Given the description of an element on the screen output the (x, y) to click on. 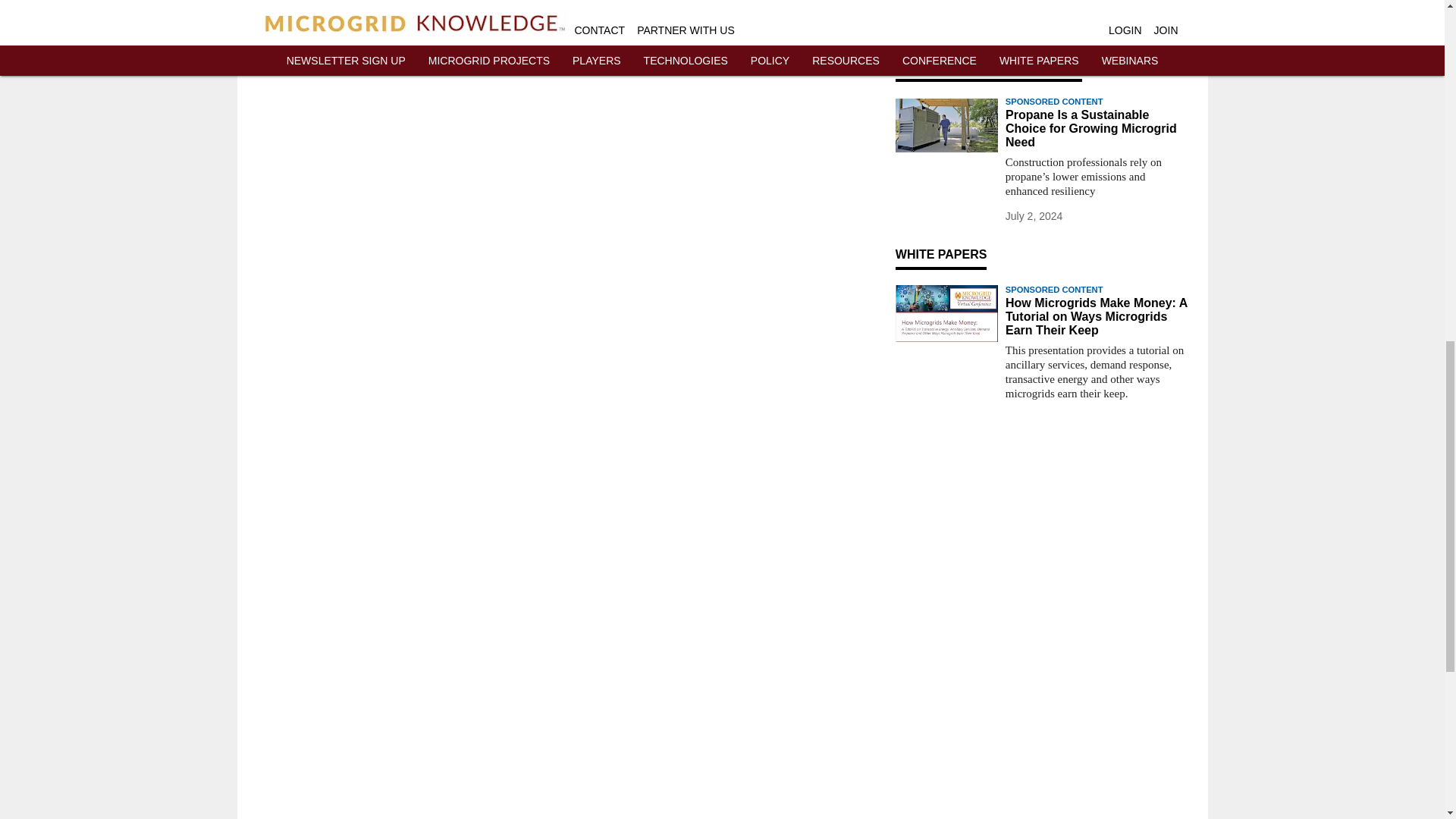
Tor Anderson, Power Engineers (946, 17)
Making Money with Microgrids (946, 313)
